Given the description of an element on the screen output the (x, y) to click on. 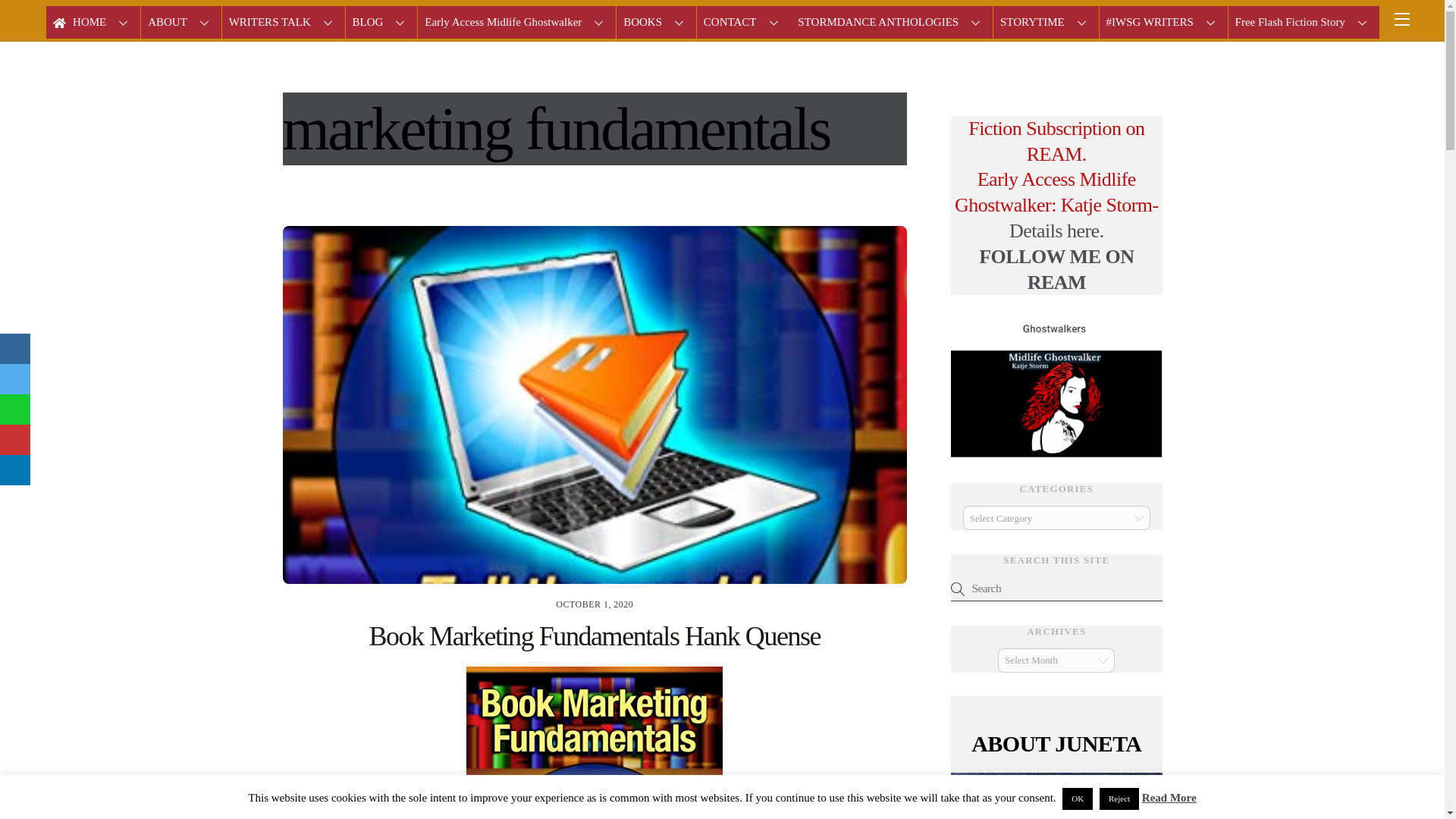
Search (1055, 588)
ABOUT (181, 21)
BLOG (381, 21)
HOME (92, 21)
WRITERS TALK (283, 21)
